Given the description of an element on the screen output the (x, y) to click on. 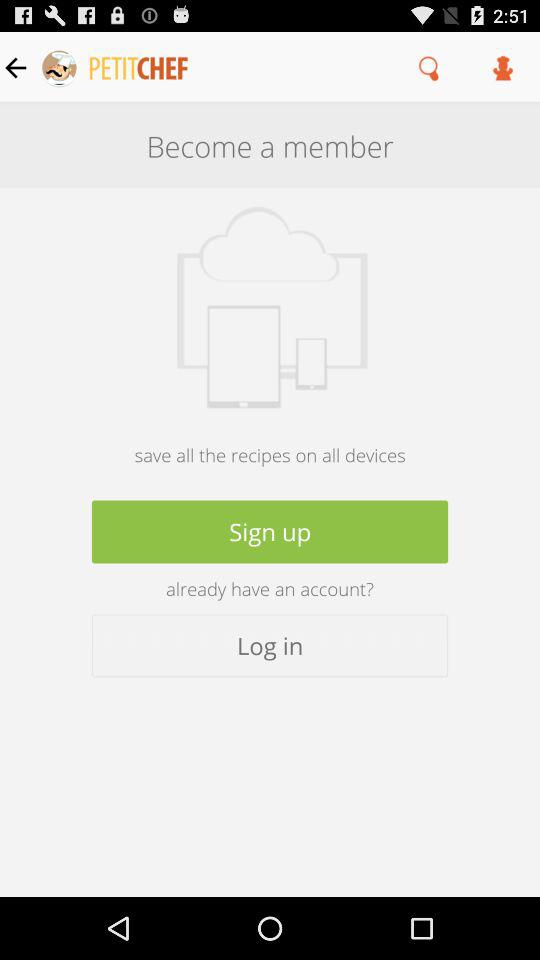
turn off item above the become a member item (429, 67)
